Given the description of an element on the screen output the (x, y) to click on. 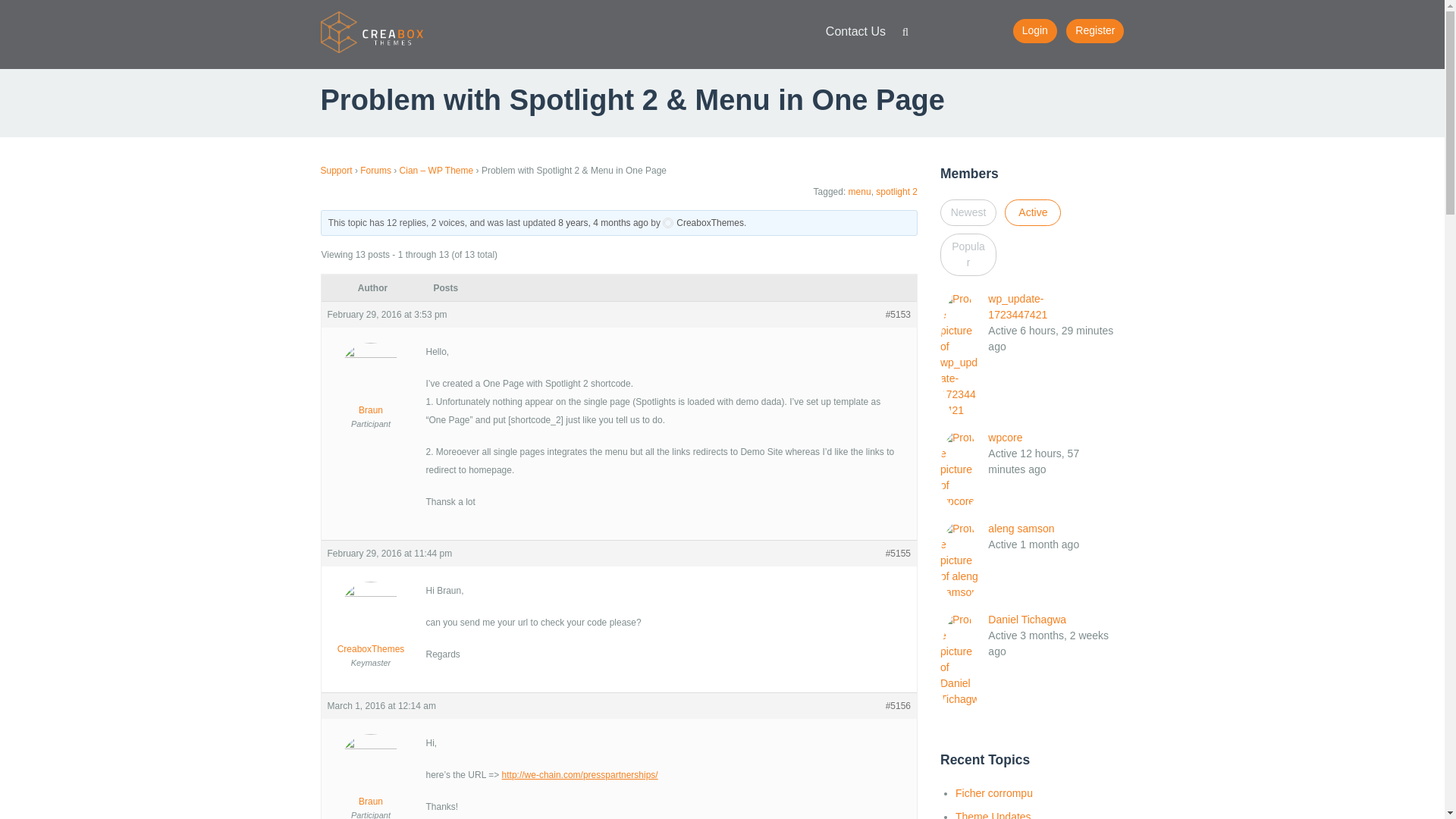
Search (905, 34)
Support (336, 170)
Login (1035, 30)
Register (1094, 30)
CreaboxThemes Support -  (371, 31)
8 years, 4 months ago (602, 222)
View CreaboxThemes's profile (703, 222)
Register (1094, 30)
CreaboxThemes Support (371, 31)
Forums (375, 170)
